Given the description of an element on the screen output the (x, y) to click on. 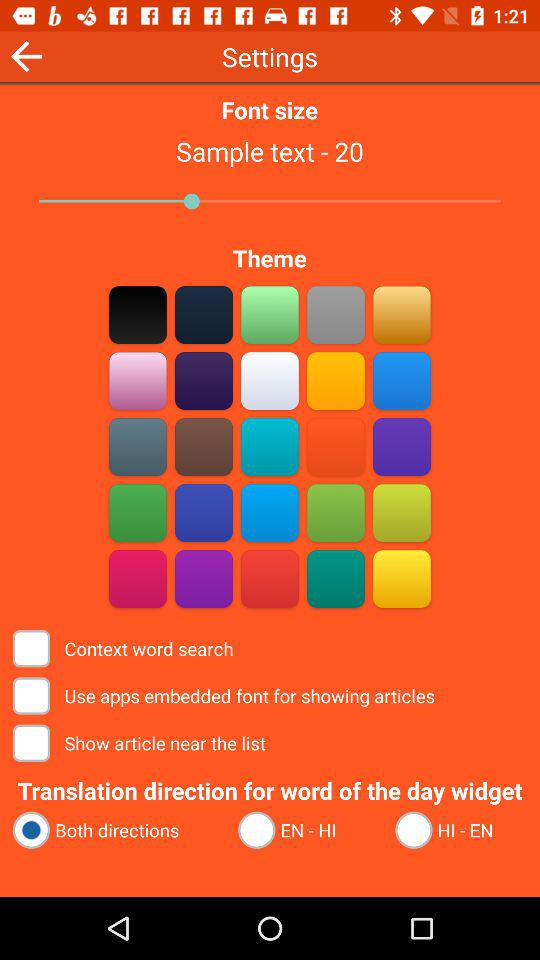
select brown theme (203, 314)
